Given the description of an element on the screen output the (x, y) to click on. 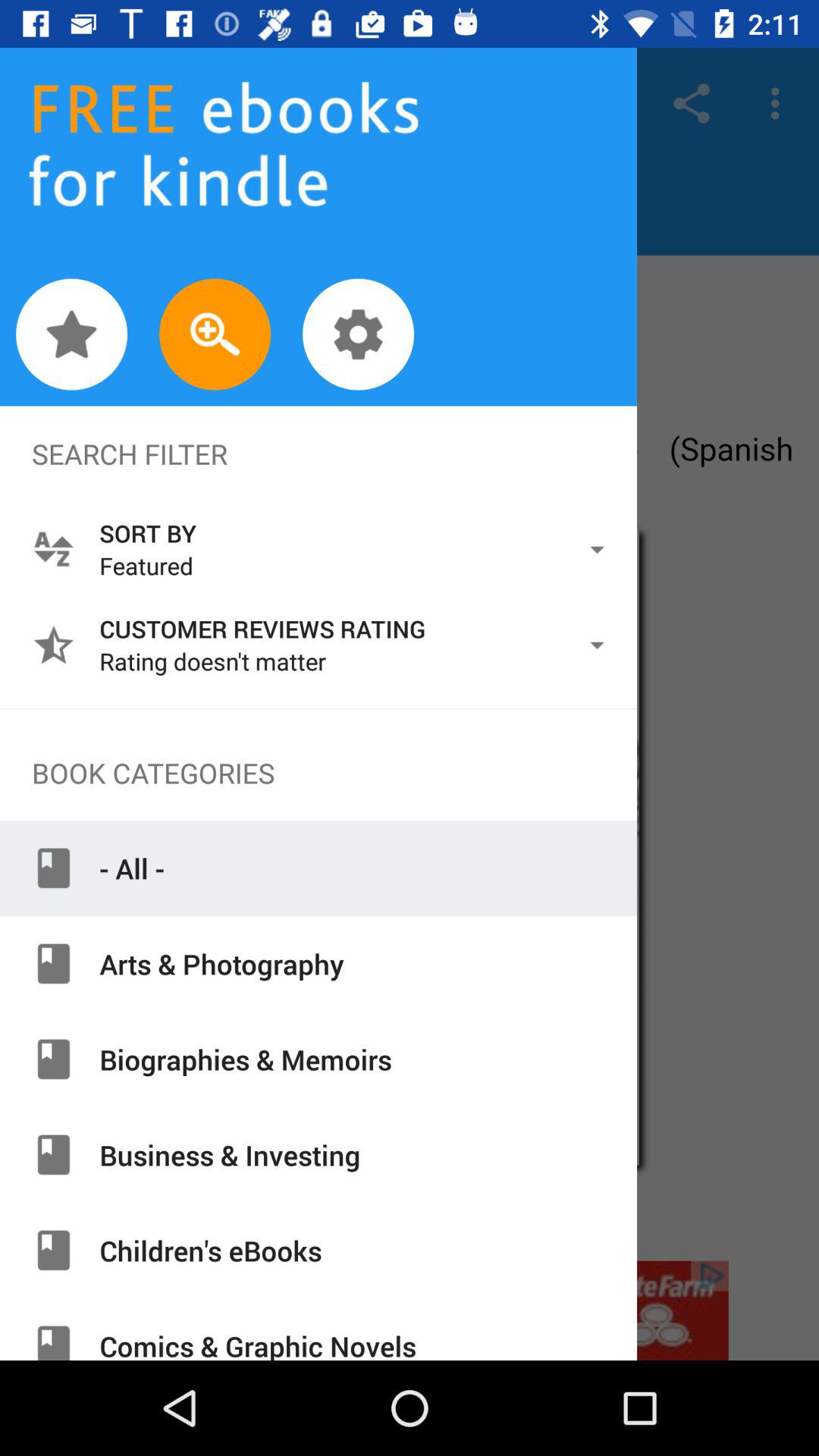
setting (358, 334)
